Given the description of an element on the screen output the (x, y) to click on. 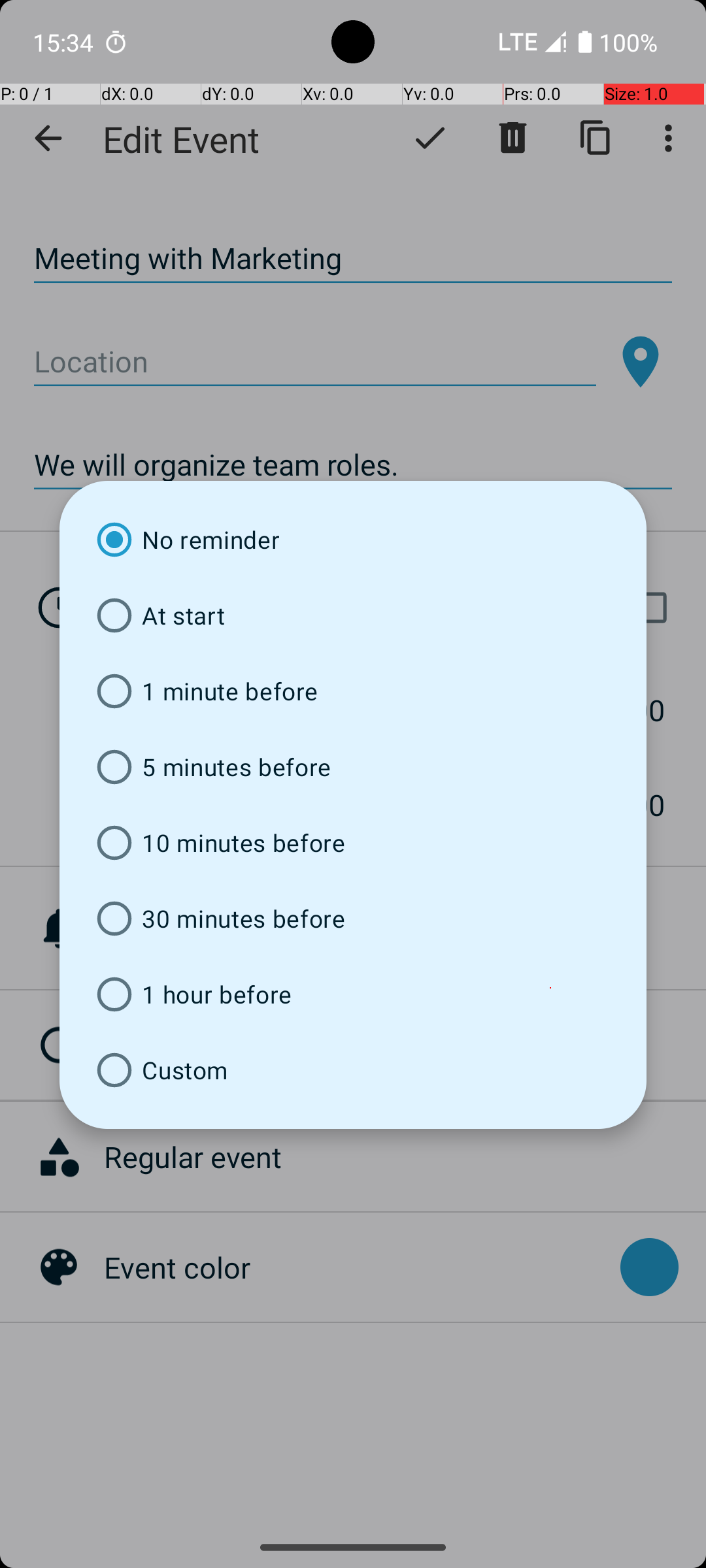
At start Element type: android.widget.RadioButton (352, 615)
1 minute before Element type: android.widget.RadioButton (352, 691)
5 minutes before Element type: android.widget.RadioButton (352, 766)
30 minutes before Element type: android.widget.RadioButton (352, 918)
1 hour before Element type: android.widget.RadioButton (352, 994)
